Given the description of an element on the screen output the (x, y) to click on. 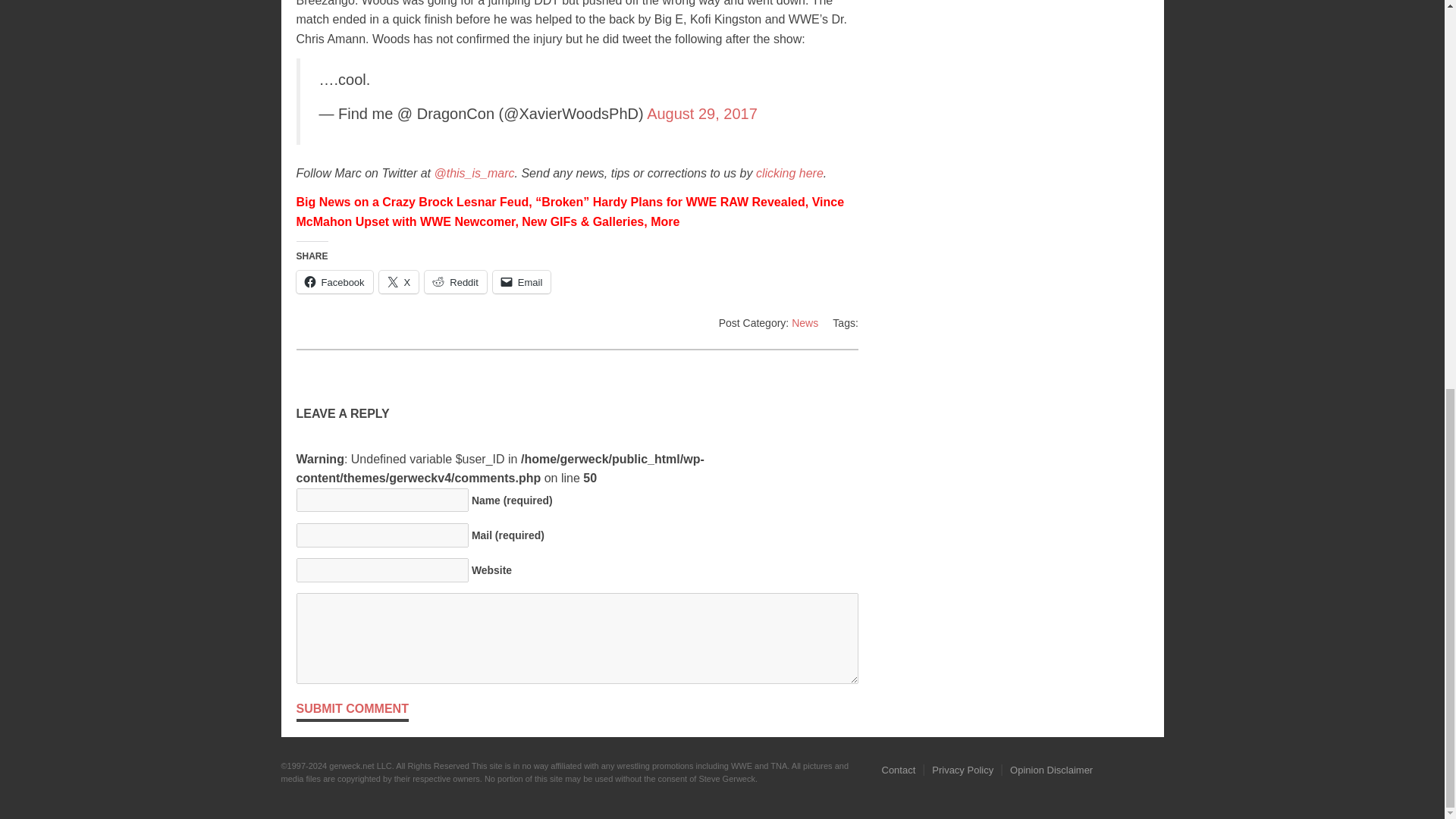
Click to share on Facebook (333, 282)
Submit Comment (351, 710)
Click to share on Reddit (455, 282)
Click to email a link to a friend (522, 282)
Click to share on X (398, 282)
